Given the description of an element on the screen output the (x, y) to click on. 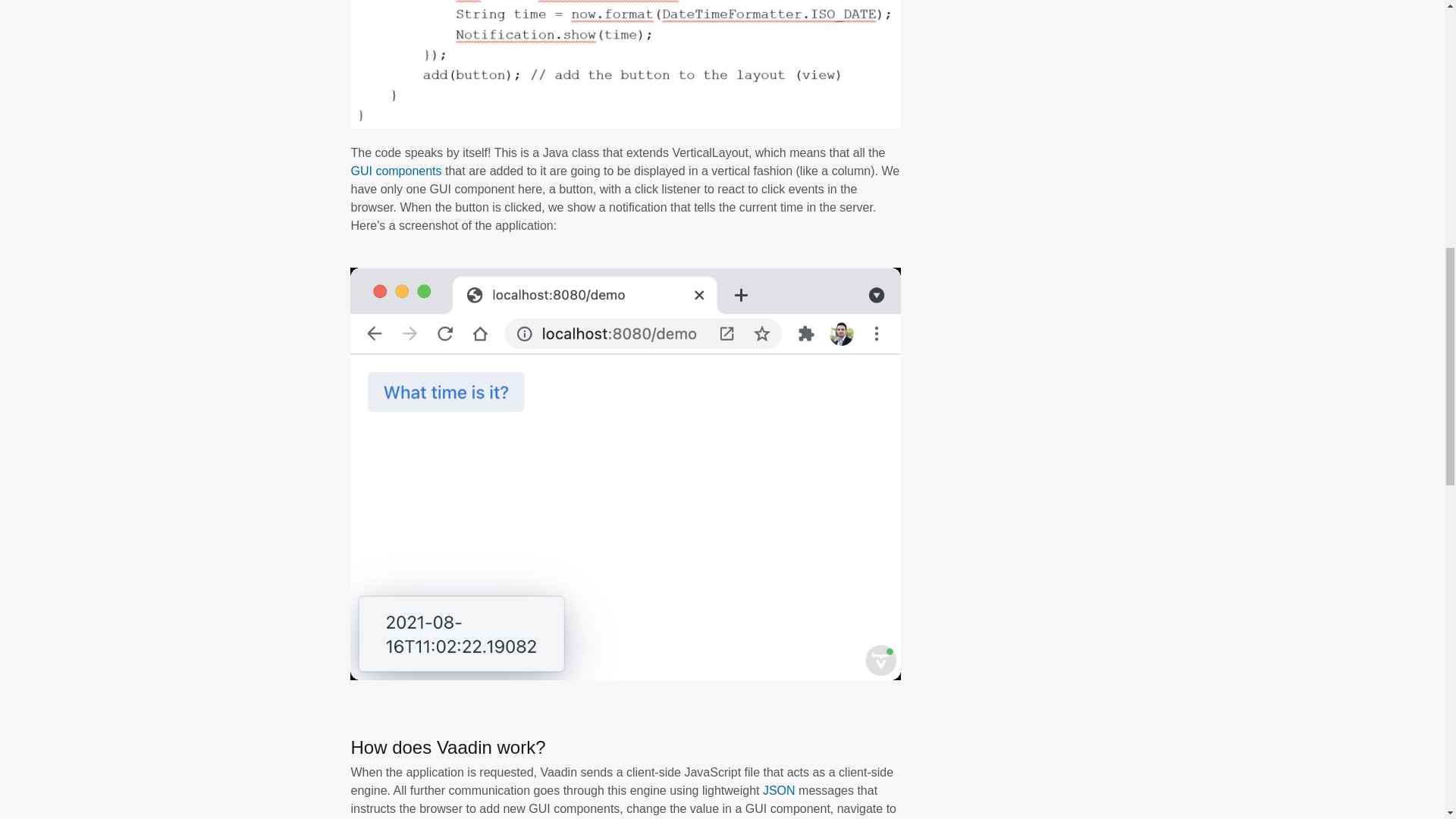
Duarte 1 (624, 63)
